Given the description of an element on the screen output the (x, y) to click on. 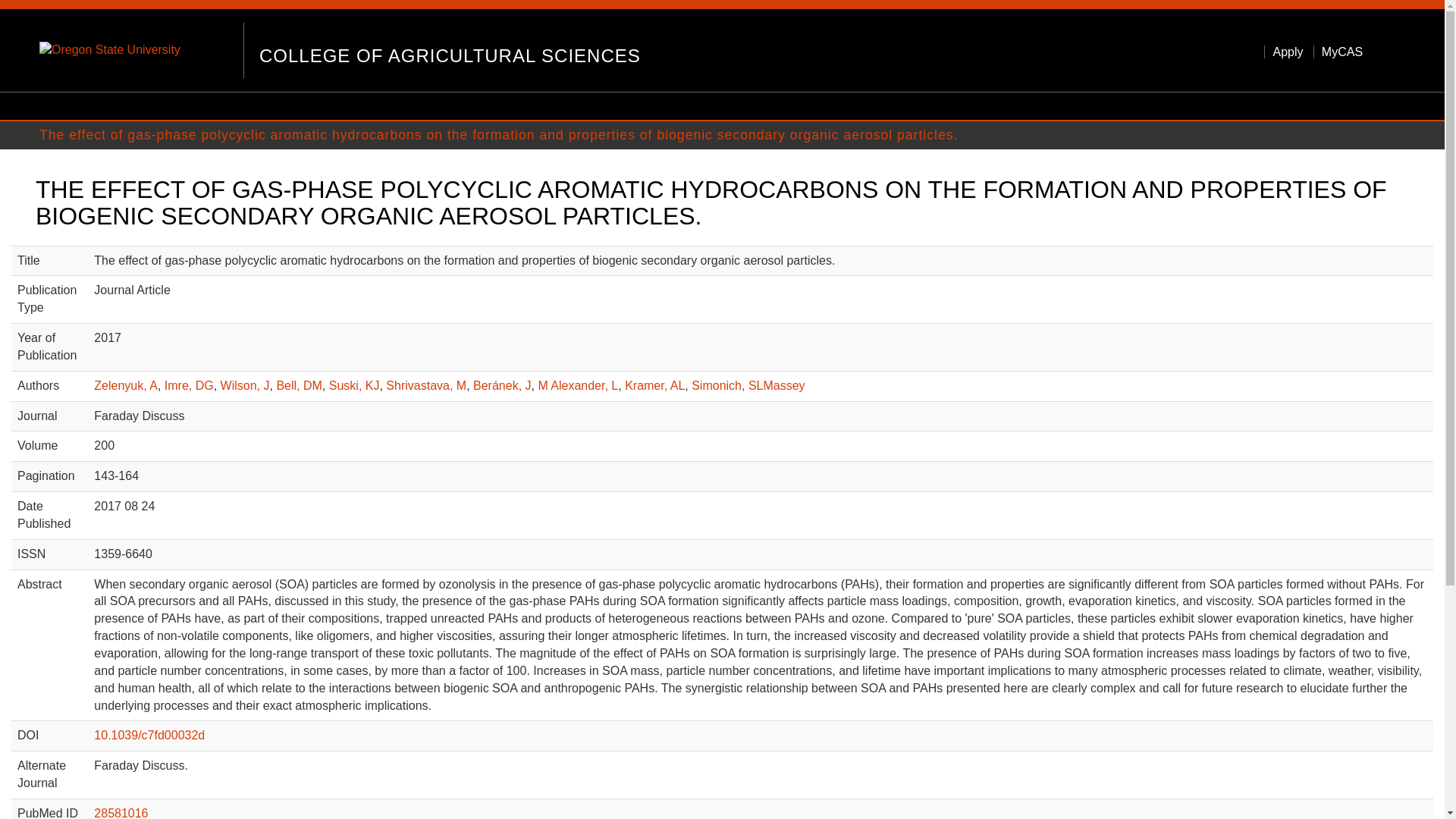
MyCAS (1337, 51)
Wilson, J (245, 385)
Bell, DM (298, 385)
COLLEGE OF AGRICULTURAL SCIENCES (449, 51)
Suski, KJ (354, 385)
Apply (1283, 51)
Zelenyuk, A (125, 385)
Kramer, AL (654, 385)
Simonich, SLMassey (748, 385)
Shrivastava, M (425, 385)
28581016 (121, 812)
University Home (115, 49)
M Alexander, L (577, 385)
Imre, DG (189, 385)
